Given the description of an element on the screen output the (x, y) to click on. 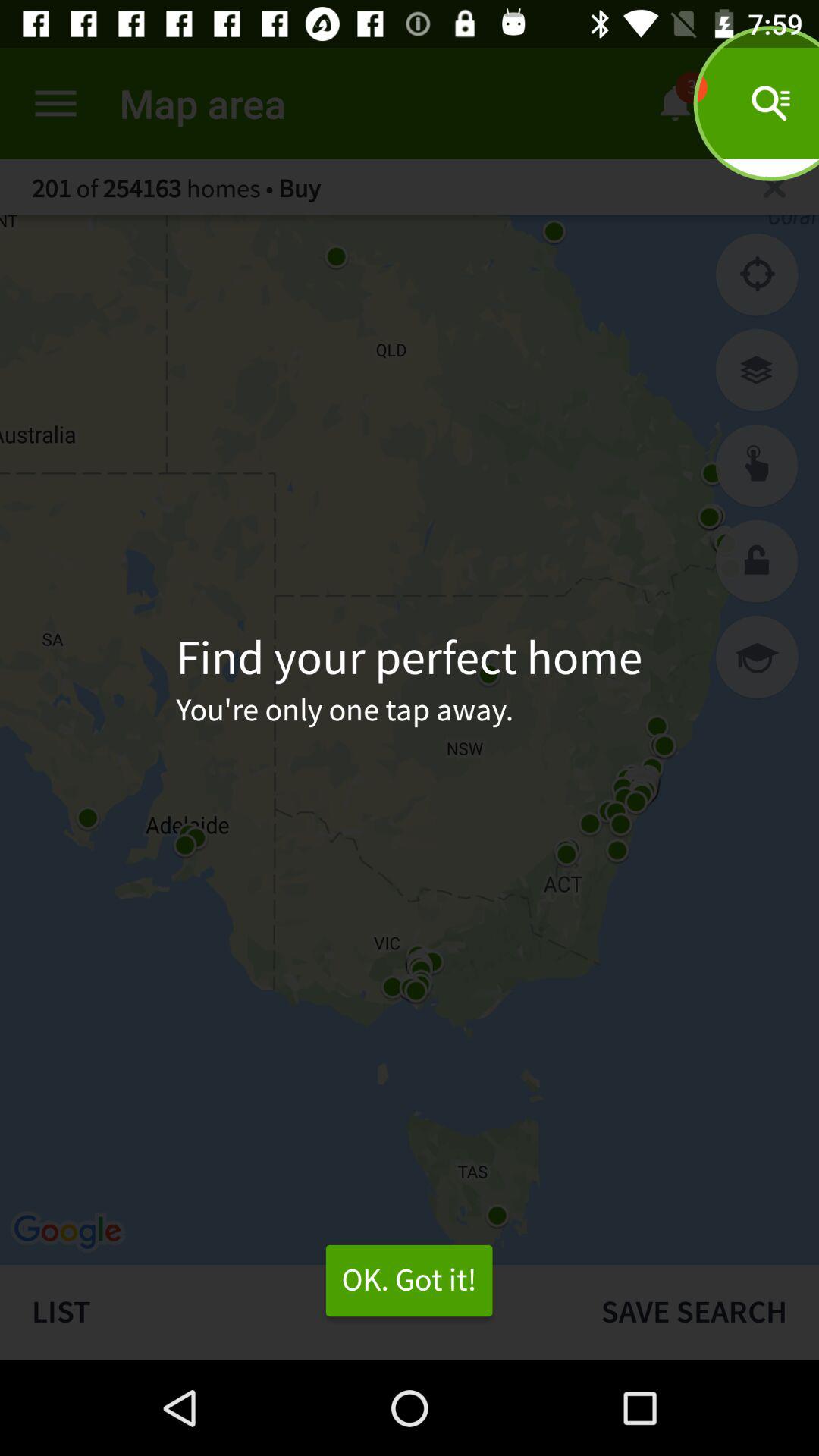
toggle drop down menu (55, 103)
